Given the description of an element on the screen output the (x, y) to click on. 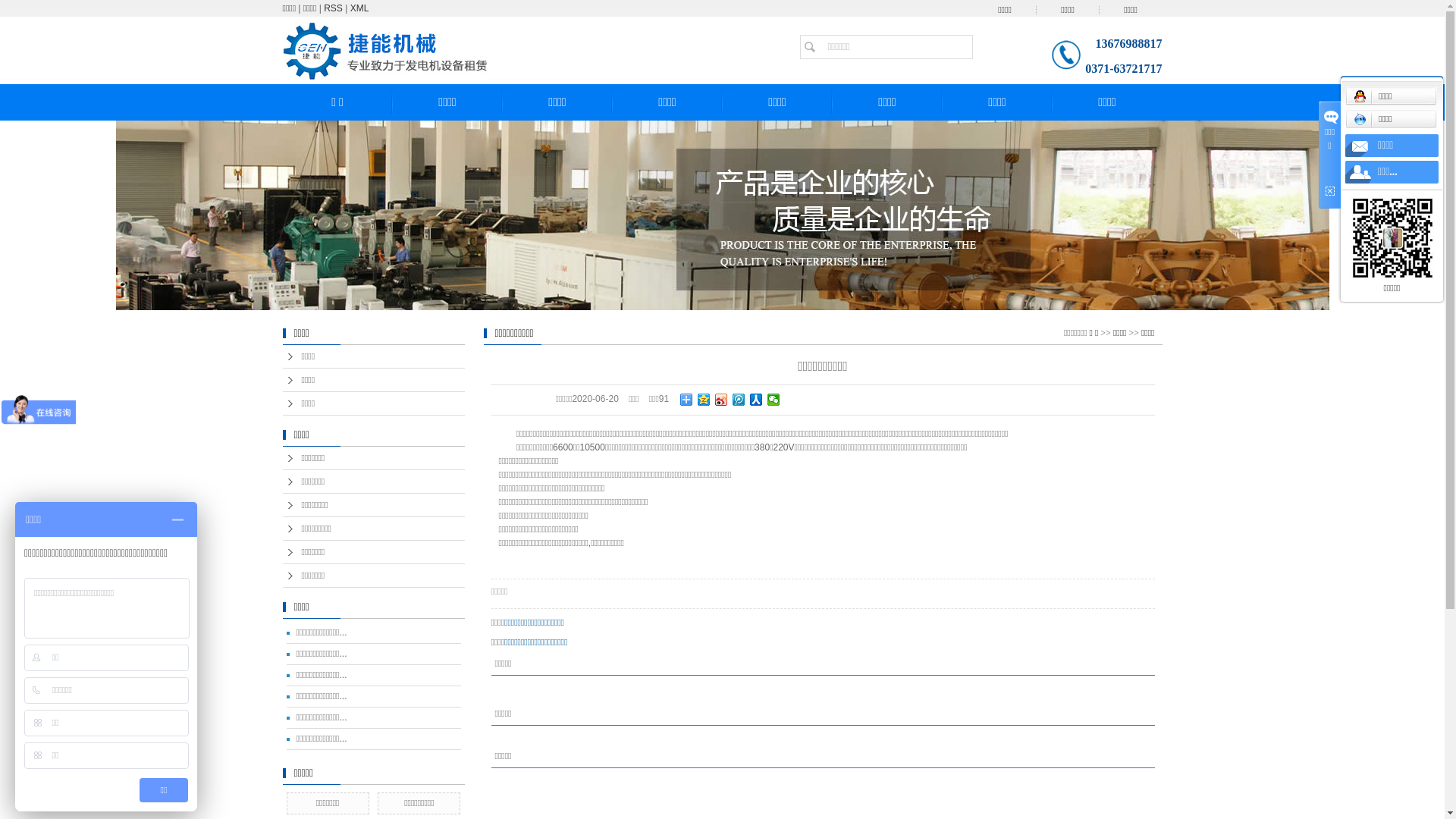
XML Element type: text (359, 8)
RSS Element type: text (332, 8)
